Given the description of an element on the screen output the (x, y) to click on. 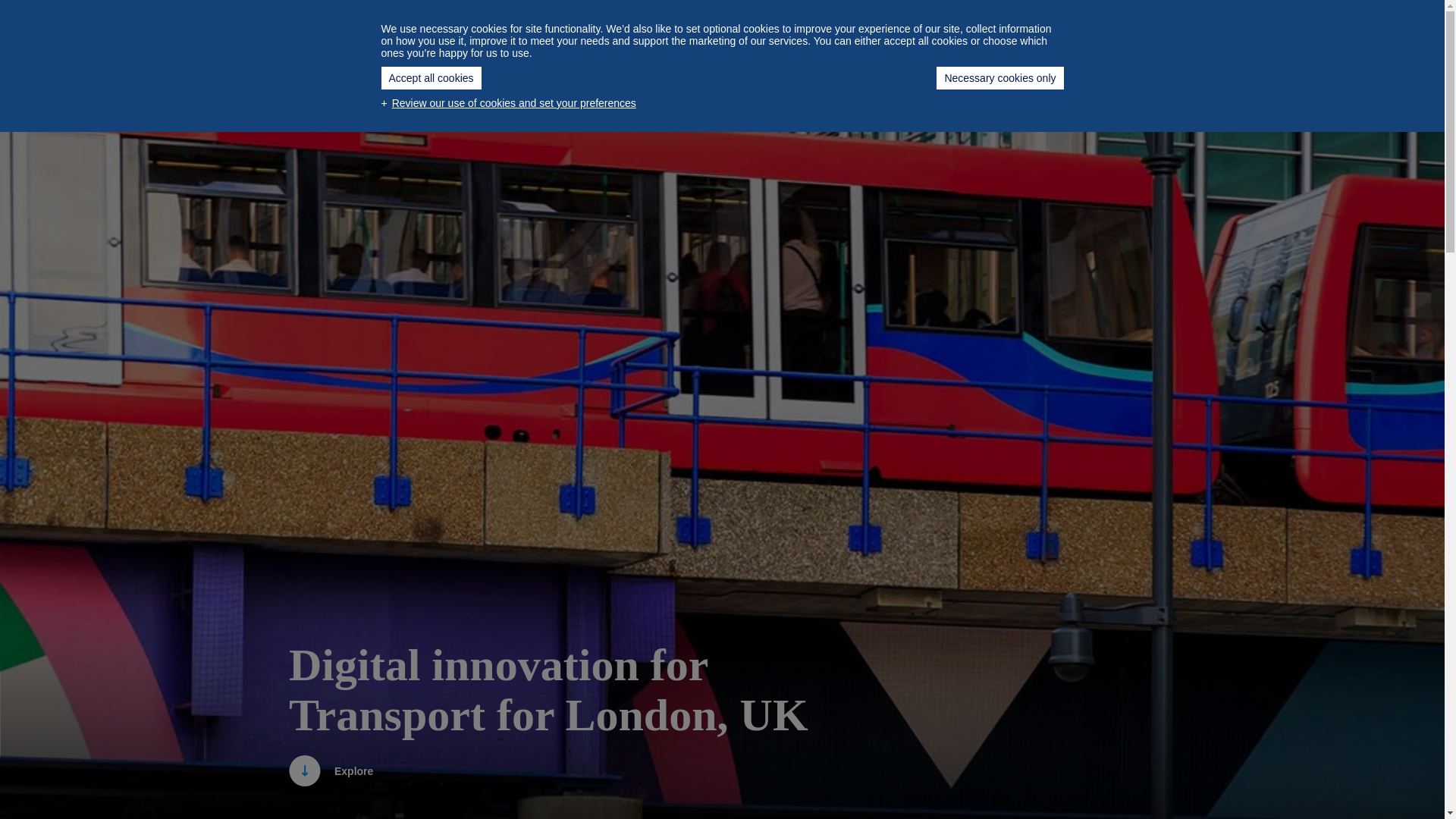
Expertise (735, 25)
News (895, 25)
Perspectives (484, 25)
Locations (972, 25)
Search (1160, 23)
People (574, 25)
About us (818, 25)
Projects (651, 25)
